Given the description of an element on the screen output the (x, y) to click on. 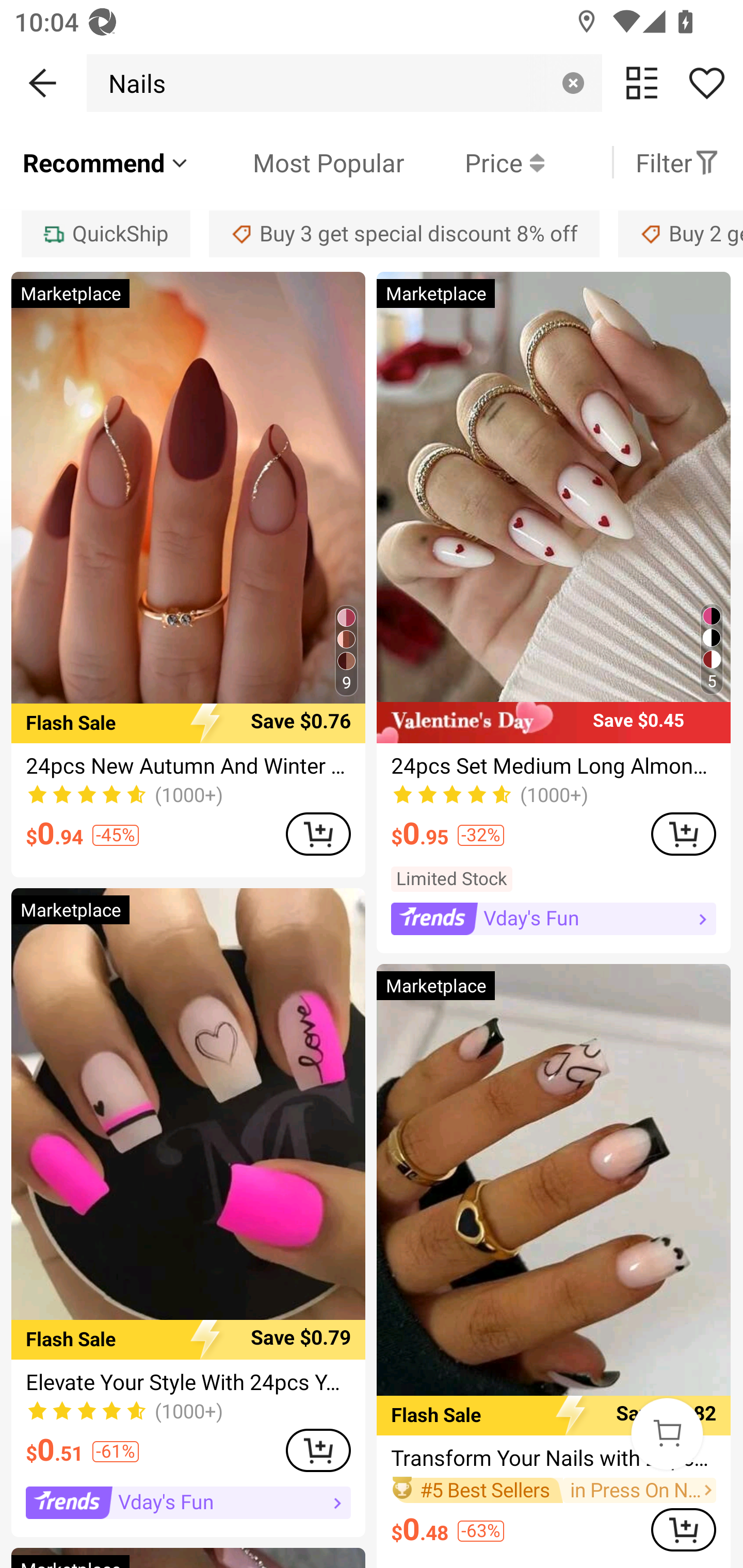
Nails Clear (343, 82)
Nails (131, 82)
Clear (572, 82)
change view (641, 82)
Share (706, 82)
Recommend (106, 162)
Most Popular (297, 162)
Price (474, 162)
Filter (677, 162)
QuickShip (105, 233)
Buy 3 get special discount 8% off (403, 233)
Buy 2 get special discount 30% off (680, 233)
ADD TO CART (318, 834)
ADD TO CART (683, 834)
Vday's Fun (553, 918)
ADD TO CART (318, 1450)
#5 Best Sellers in Press On Nails (553, 1490)
Vday's Fun (188, 1502)
ADD TO CART (683, 1529)
